Given the description of an element on the screen output the (x, y) to click on. 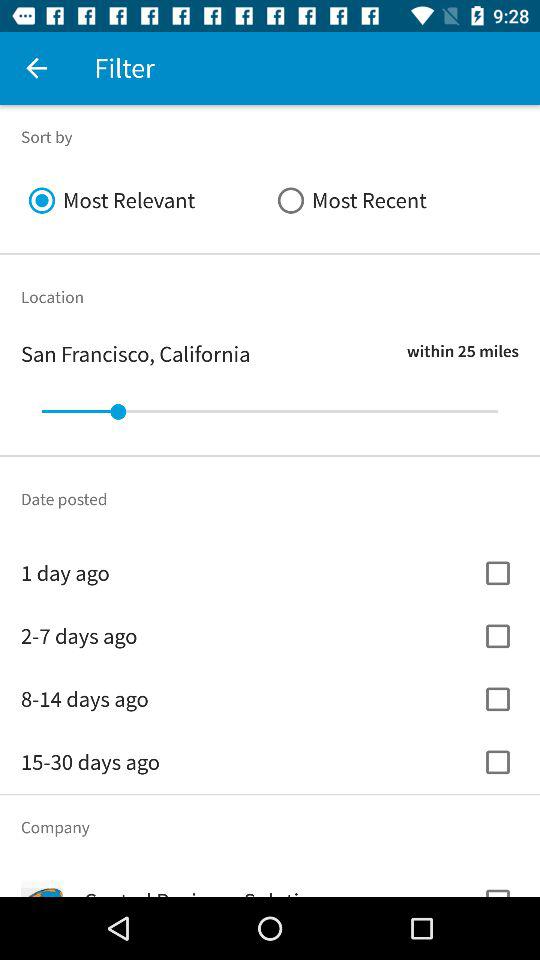
click the radio button beside most relevant (394, 200)
